Given the description of an element on the screen output the (x, y) to click on. 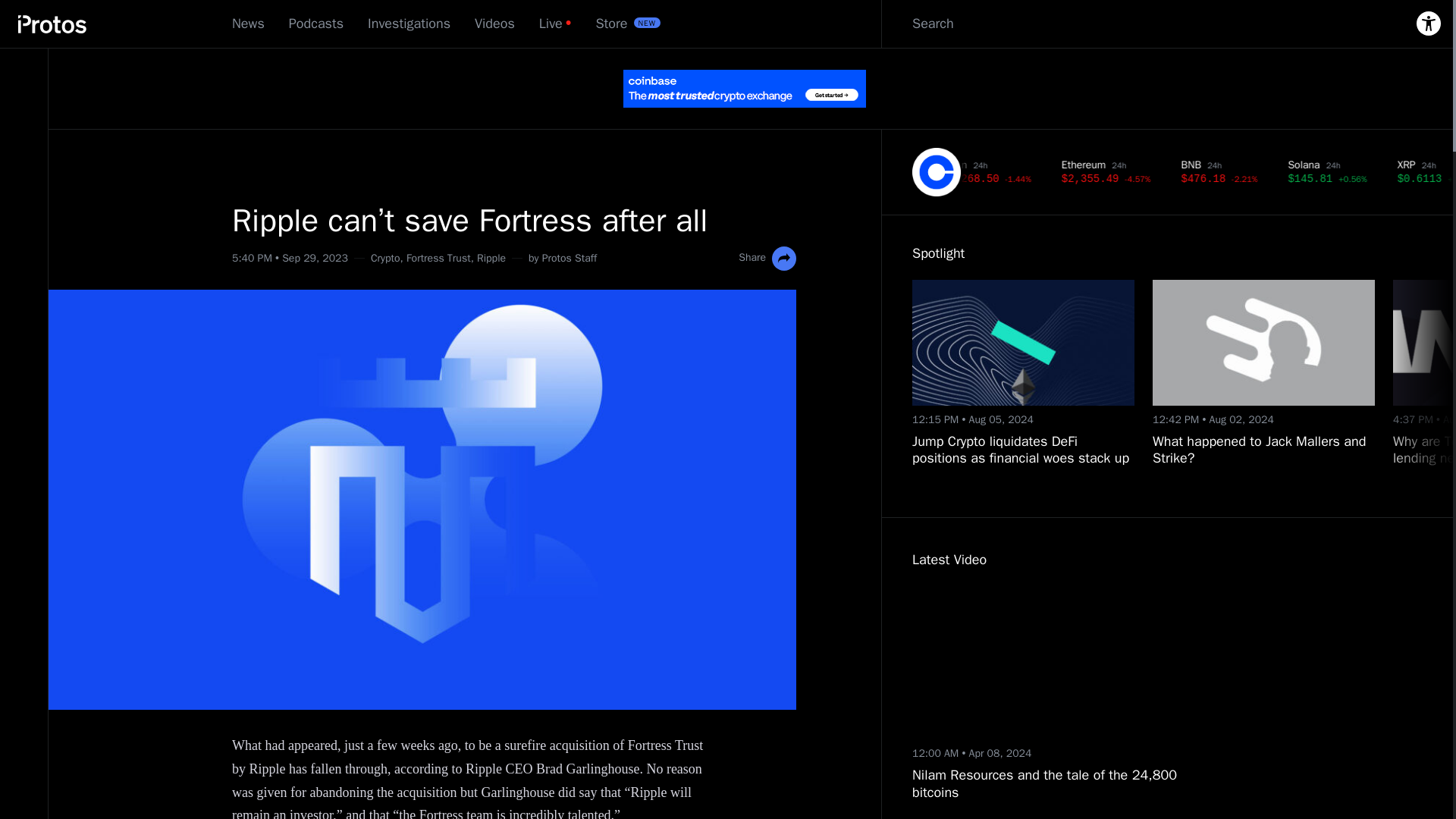
Fortress Trust (438, 258)
Investigations (408, 23)
Podcasts (315, 23)
Crypto (385, 258)
Protos Staff (568, 258)
Ripple (491, 258)
